Given the description of an element on the screen output the (x, y) to click on. 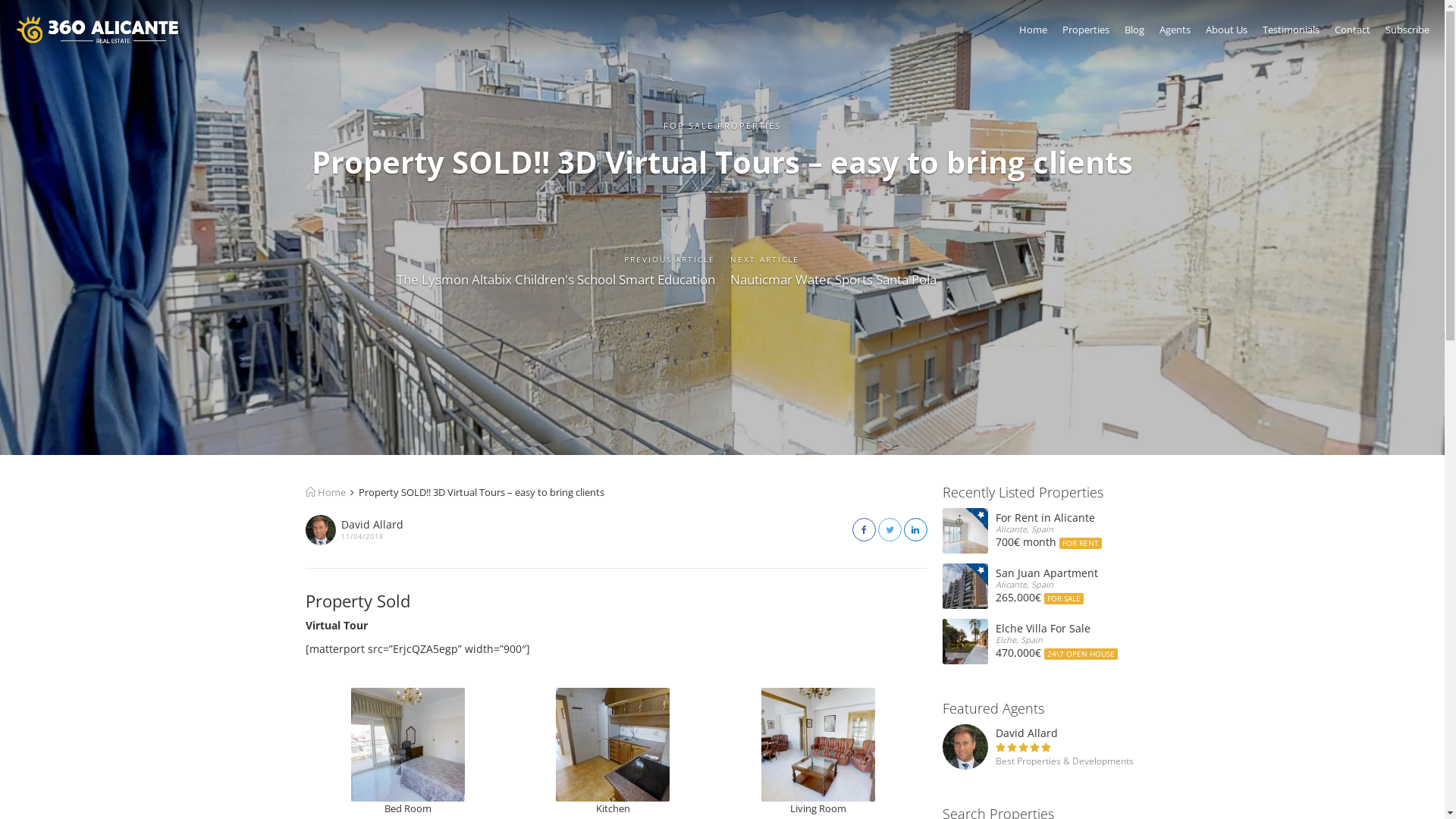
Nauticmar Water Sports Santa Pola Element type: text (832, 279)
About Us Element type: text (1226, 33)
Properties Element type: text (1085, 33)
The Lysmon Altabix Children's School Smart Education Element type: text (554, 279)
Testimonials Element type: text (1290, 33)
Blog Element type: text (1134, 33)
Share on Facebook Element type: hover (863, 529)
Agents Element type: text (1174, 33)
Share on LinkedIn Element type: hover (915, 529)
Home Element type: text (1033, 33)
 Home Element type: text (324, 491)
Share on Twitter Element type: hover (889, 529)
Contact Element type: text (1352, 33)
Subscribe Element type: text (1407, 33)
